Given the description of an element on the screen output the (x, y) to click on. 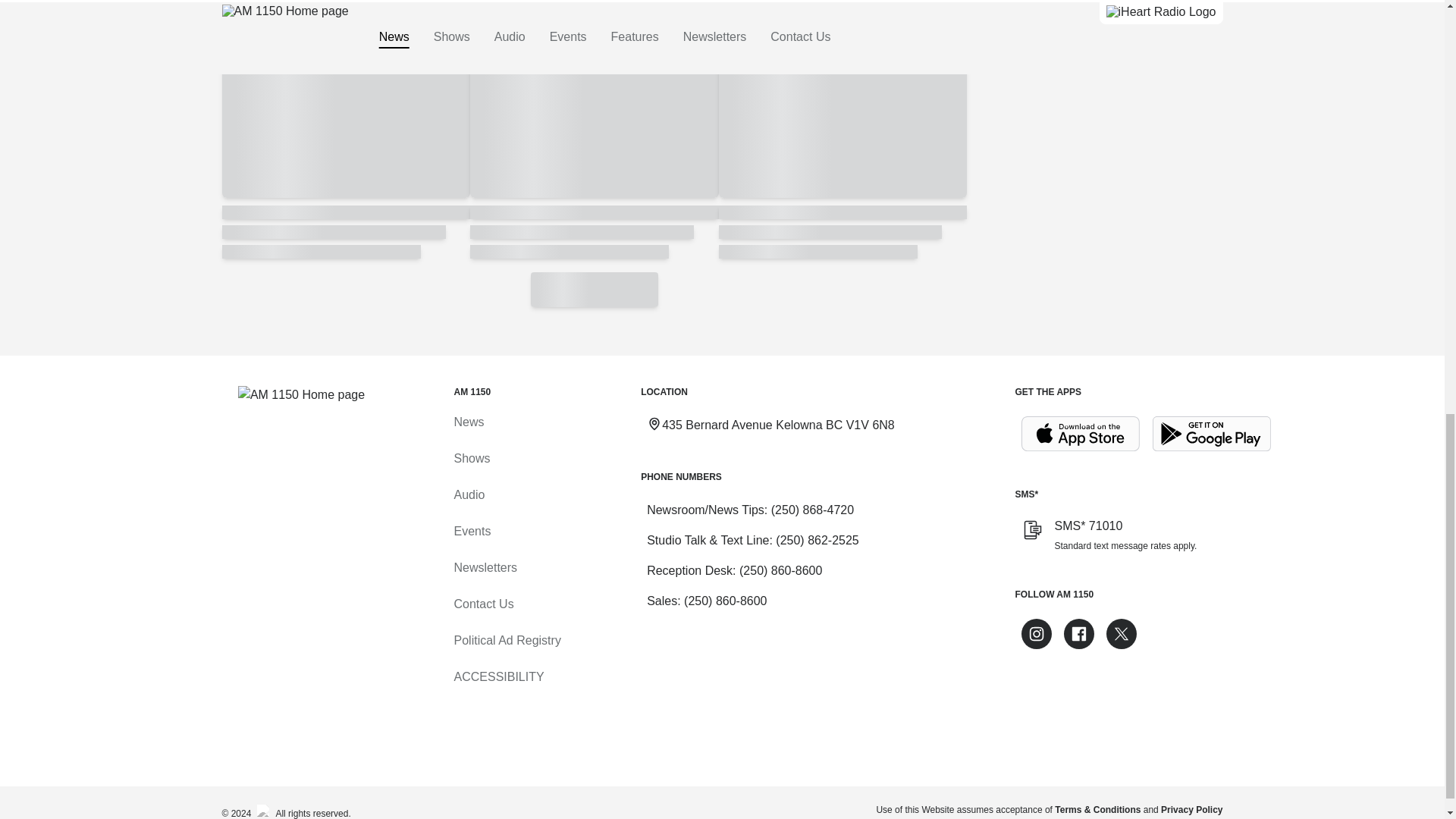
News (467, 421)
Privacy Policy (1191, 809)
Contact Us (482, 603)
Audio (468, 494)
Download on the App Store (1080, 434)
Political Ad Registry (506, 640)
ACCESSIBILITY (497, 676)
Get it on Google Play (1212, 434)
Events (471, 530)
Accessibility (497, 676)
